Given the description of an element on the screen output the (x, y) to click on. 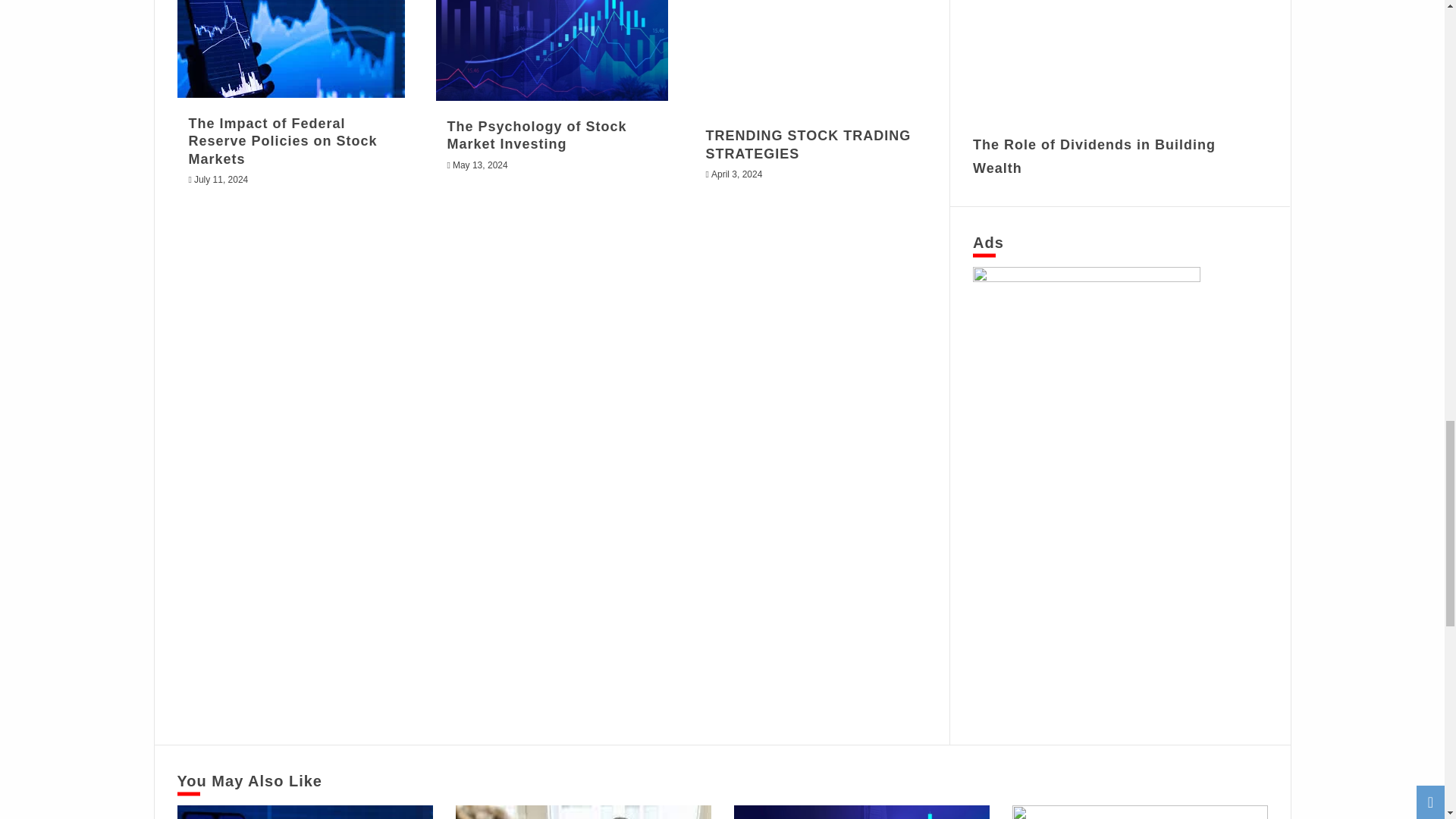
April 3, 2024 (736, 173)
May 13, 2024 (480, 164)
July 11, 2024 (220, 179)
TRENDING STOCK TRADING STRATEGIES (808, 143)
The Impact of Federal Reserve Policies on Stock Markets (282, 141)
The Psychology of Stock Market Investing (536, 134)
